Given the description of an element on the screen output the (x, y) to click on. 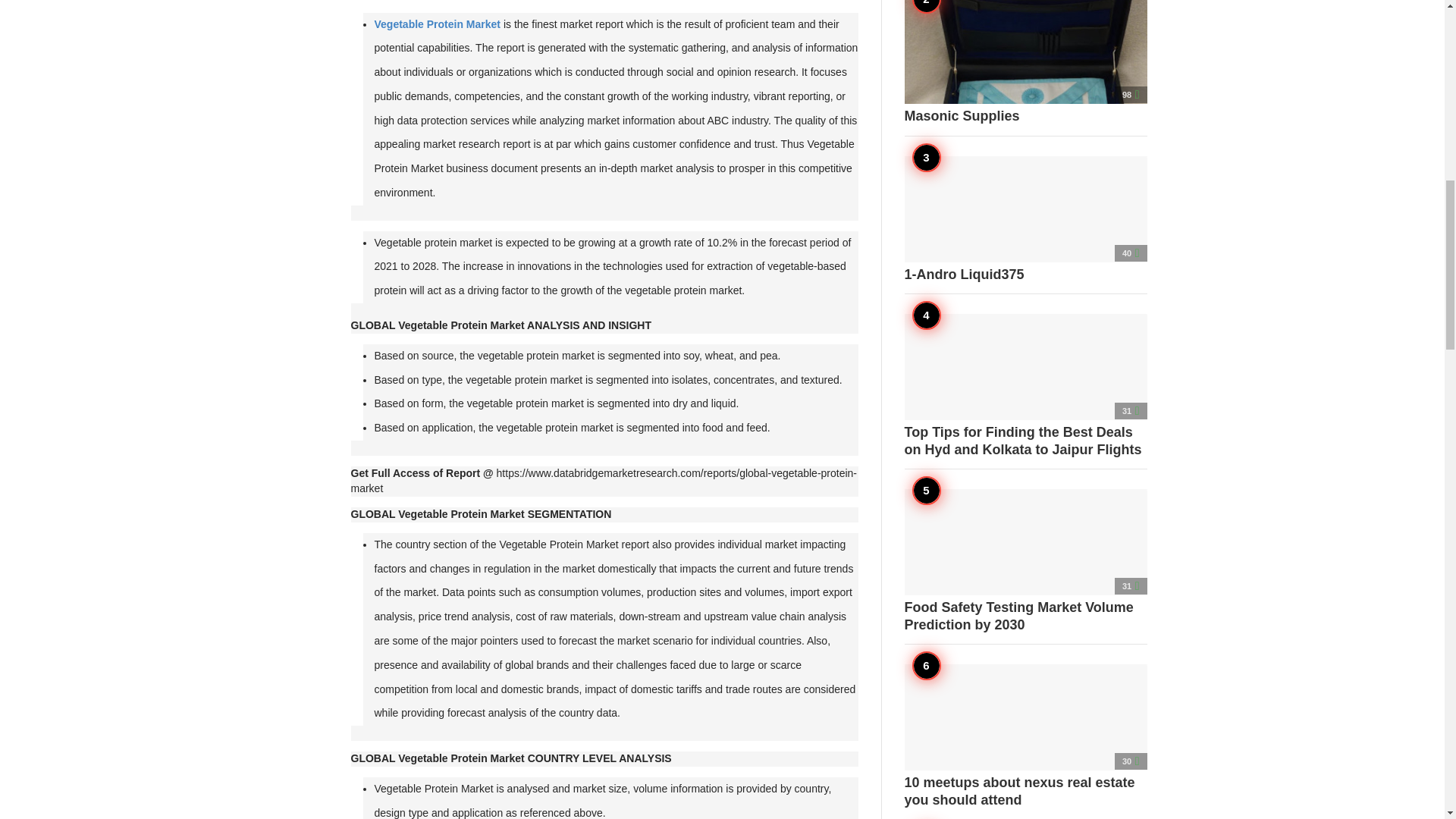
10 meetups about nexus real estate you should attend (1025, 736)
1-Andro Liquid375 (1025, 219)
Masonic Supplies (1025, 62)
Food Safety Testing Market Volume Prediction by 2030 (1025, 560)
